Given the description of an element on the screen output the (x, y) to click on. 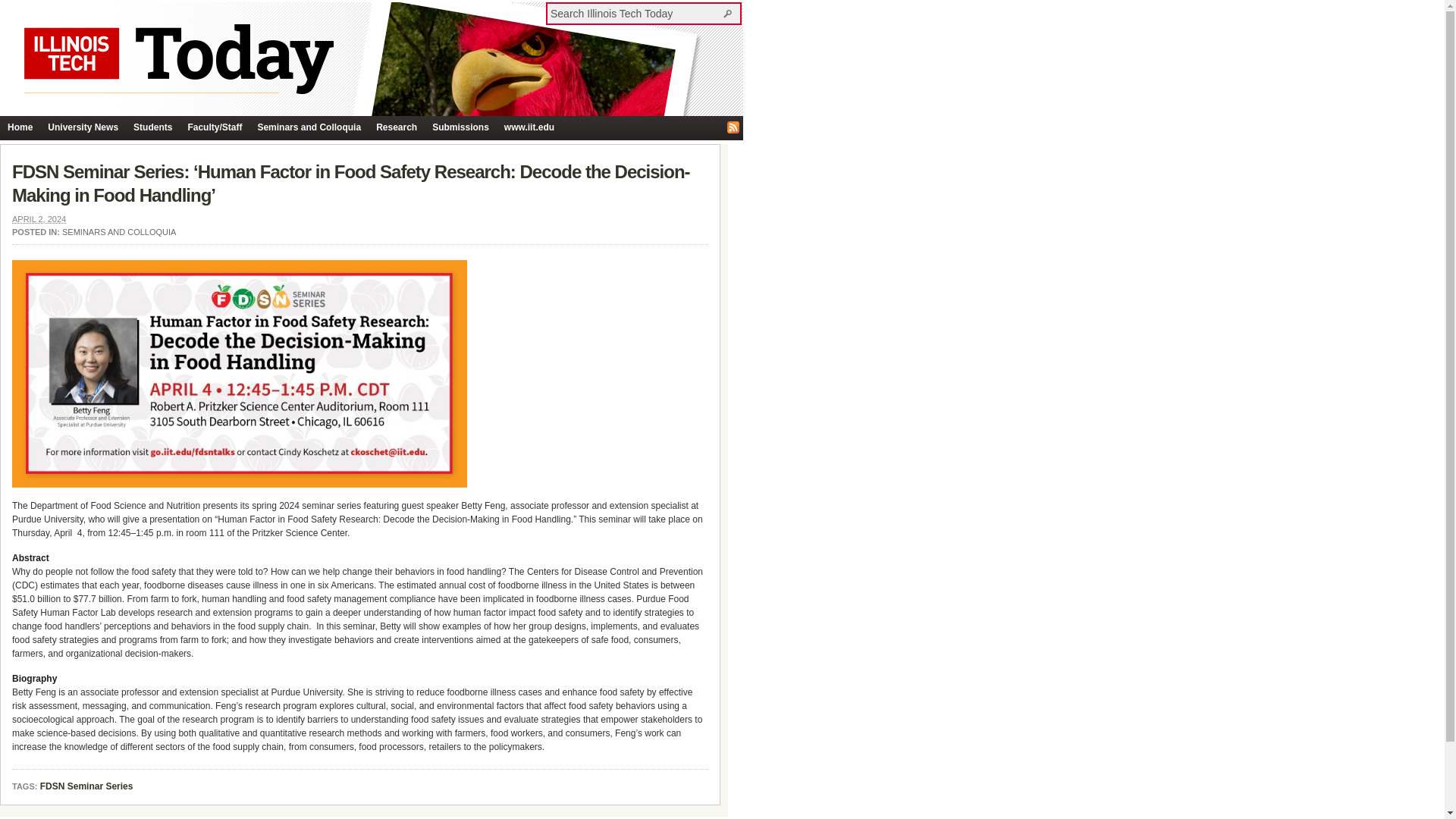
Search Illinois Tech Today (729, 13)
2024-04-02T16:50:27-05:00 (38, 218)
Illinois Tech Today RSS Feed (732, 127)
Search (729, 13)
University News (82, 127)
Search (729, 13)
FDSN Seminar Series (86, 787)
Search Illinois Tech Today (636, 13)
Search (729, 13)
Submissions (460, 127)
